Given the description of an element on the screen output the (x, y) to click on. 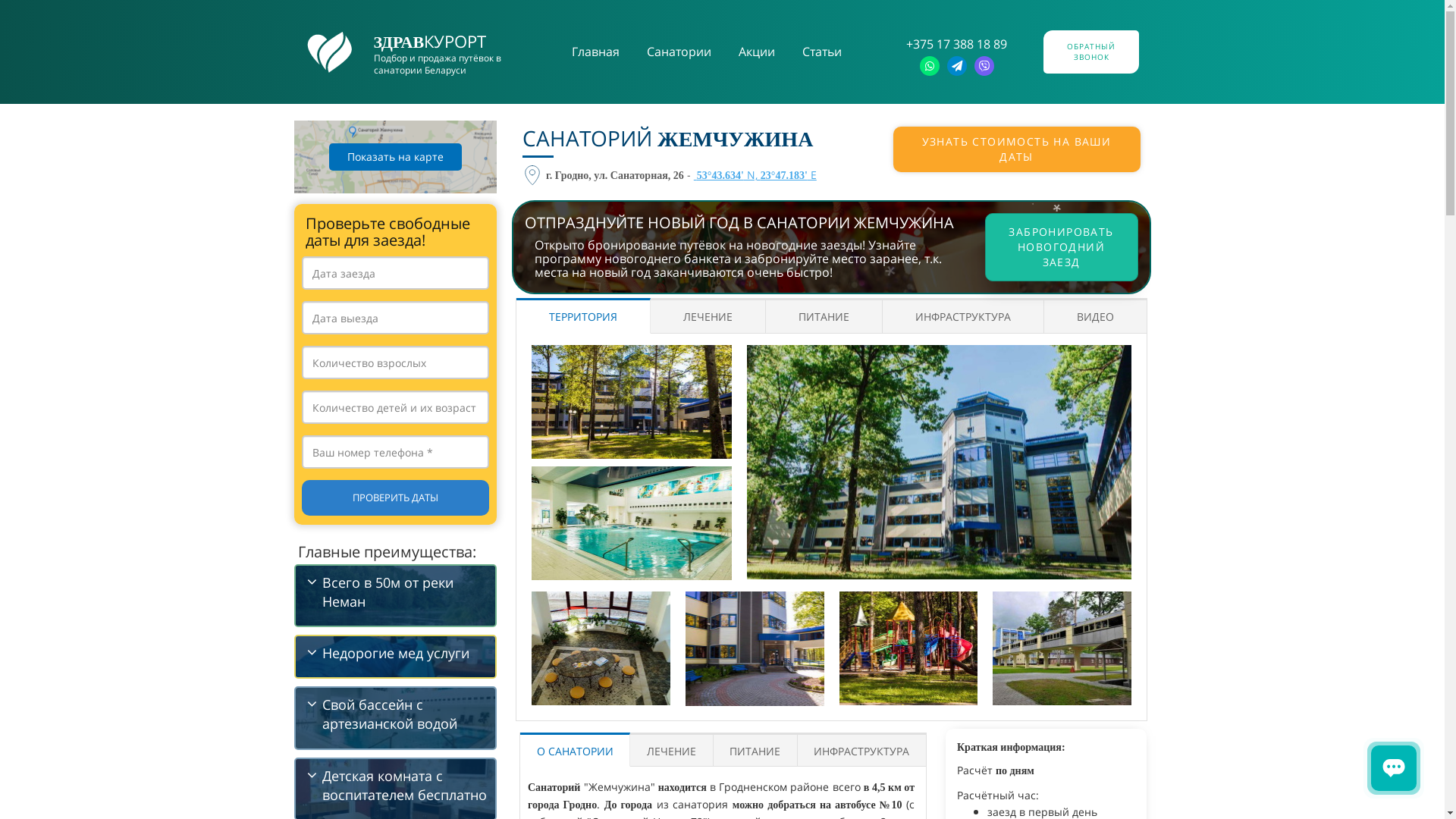
+375 17 388 18 89 Element type: text (956, 43)
